Given the description of an element on the screen output the (x, y) to click on. 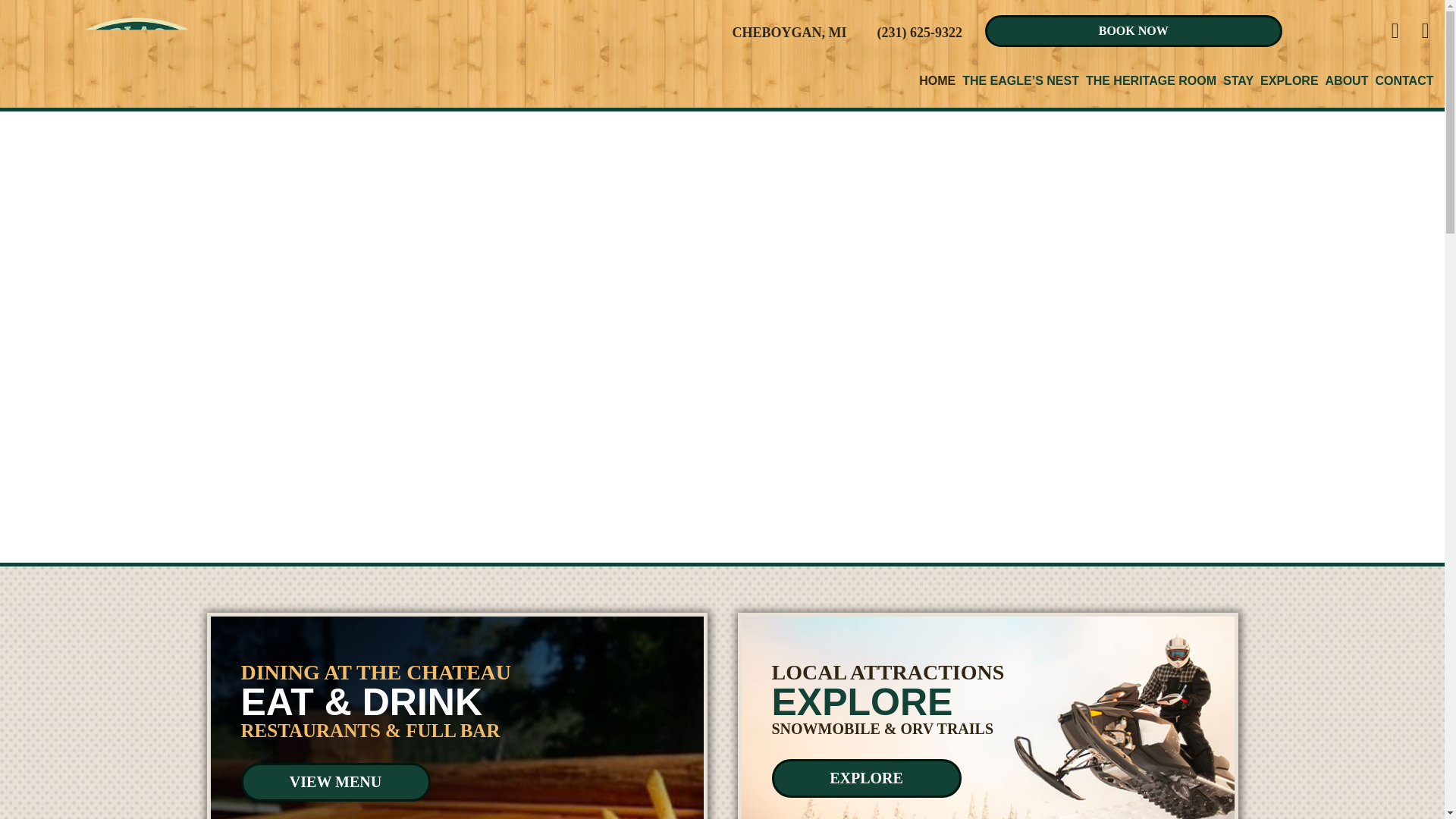
BOOK NOW (1133, 30)
Chateau at Black Mountain logo (136, 137)
STAY (1238, 80)
THE HERITAGE ROOM (1150, 80)
CHEBOYGAN, MI (788, 31)
EXPLORE (1289, 80)
HOME (936, 80)
